Given the description of an element on the screen output the (x, y) to click on. 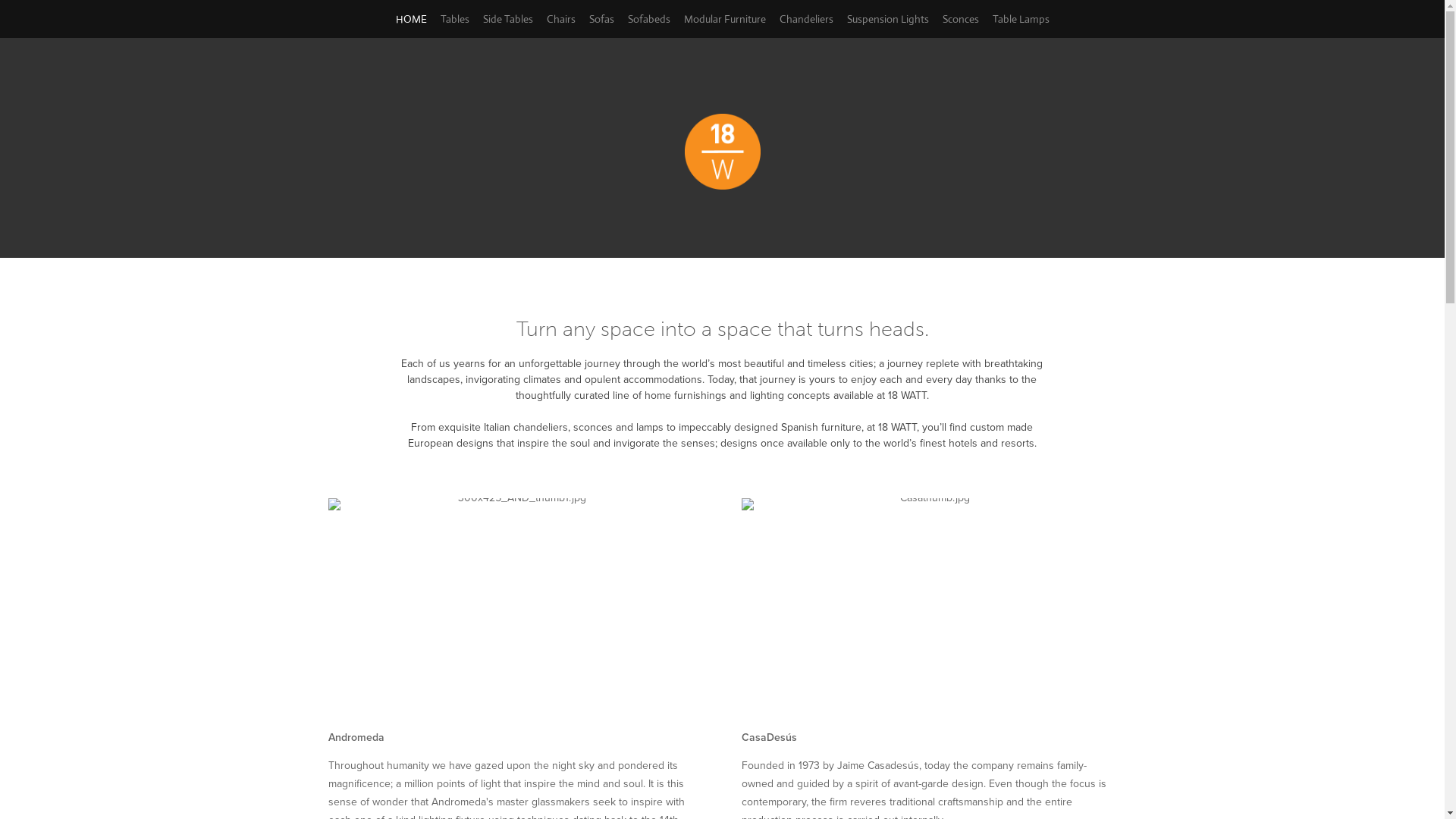
Suspension Lights Element type: text (887, 18)
Tables Element type: text (453, 18)
Sconces Element type: text (959, 18)
Chairs Element type: text (560, 18)
Sofas Element type: text (600, 18)
Chandeliers Element type: text (806, 18)
Side Tables Element type: text (507, 18)
Table Lamps Element type: text (1019, 18)
Sofabeds Element type: text (648, 18)
HOME Element type: text (410, 18)
Modular Furniture Element type: text (724, 18)
